Given the description of an element on the screen output the (x, y) to click on. 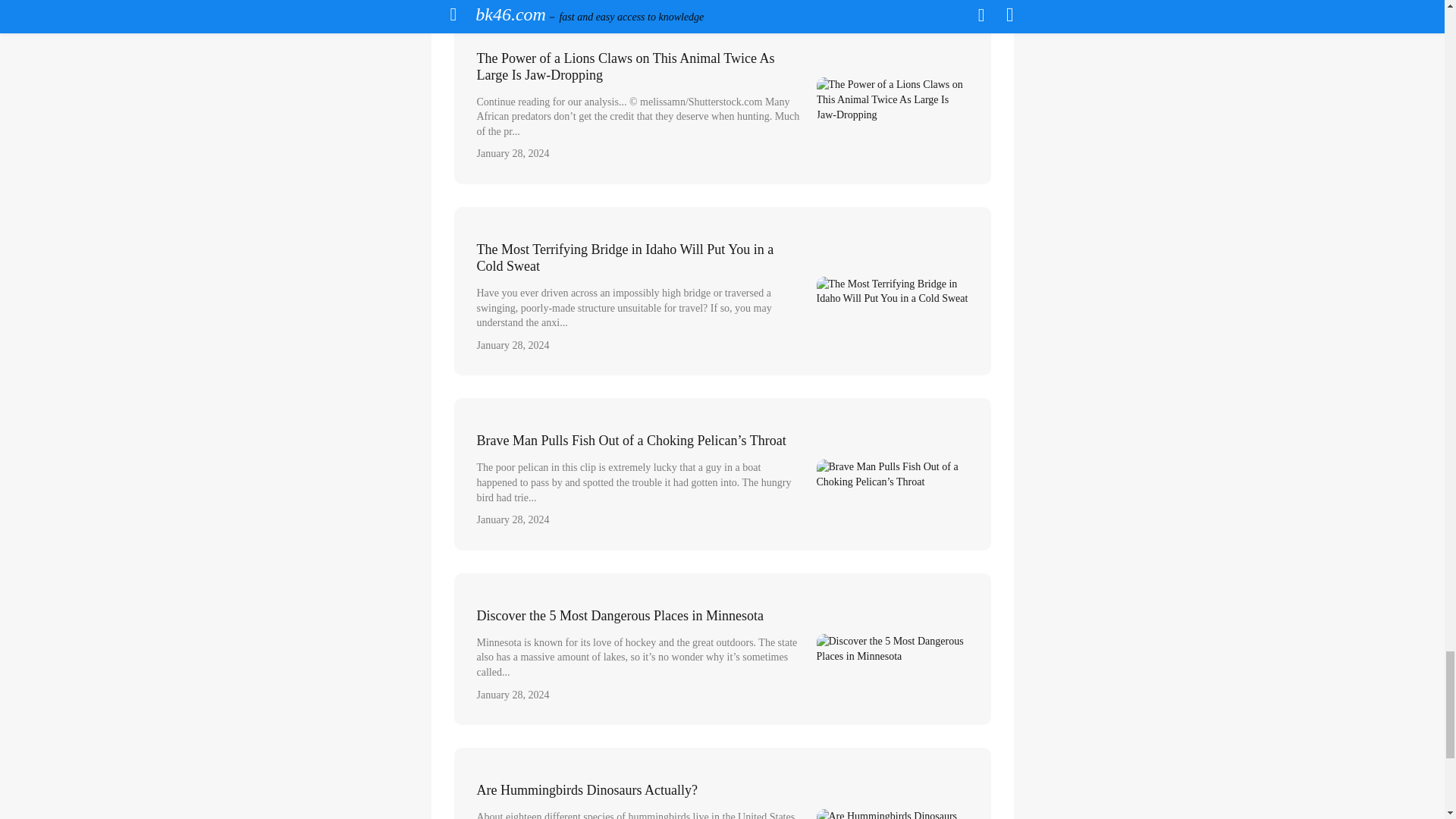
Are Hummingbirds Dinosaurs Actually? (721, 783)
Discover the 5 Most Dangerous Places in Minnesota (721, 648)
